Given the description of an element on the screen output the (x, y) to click on. 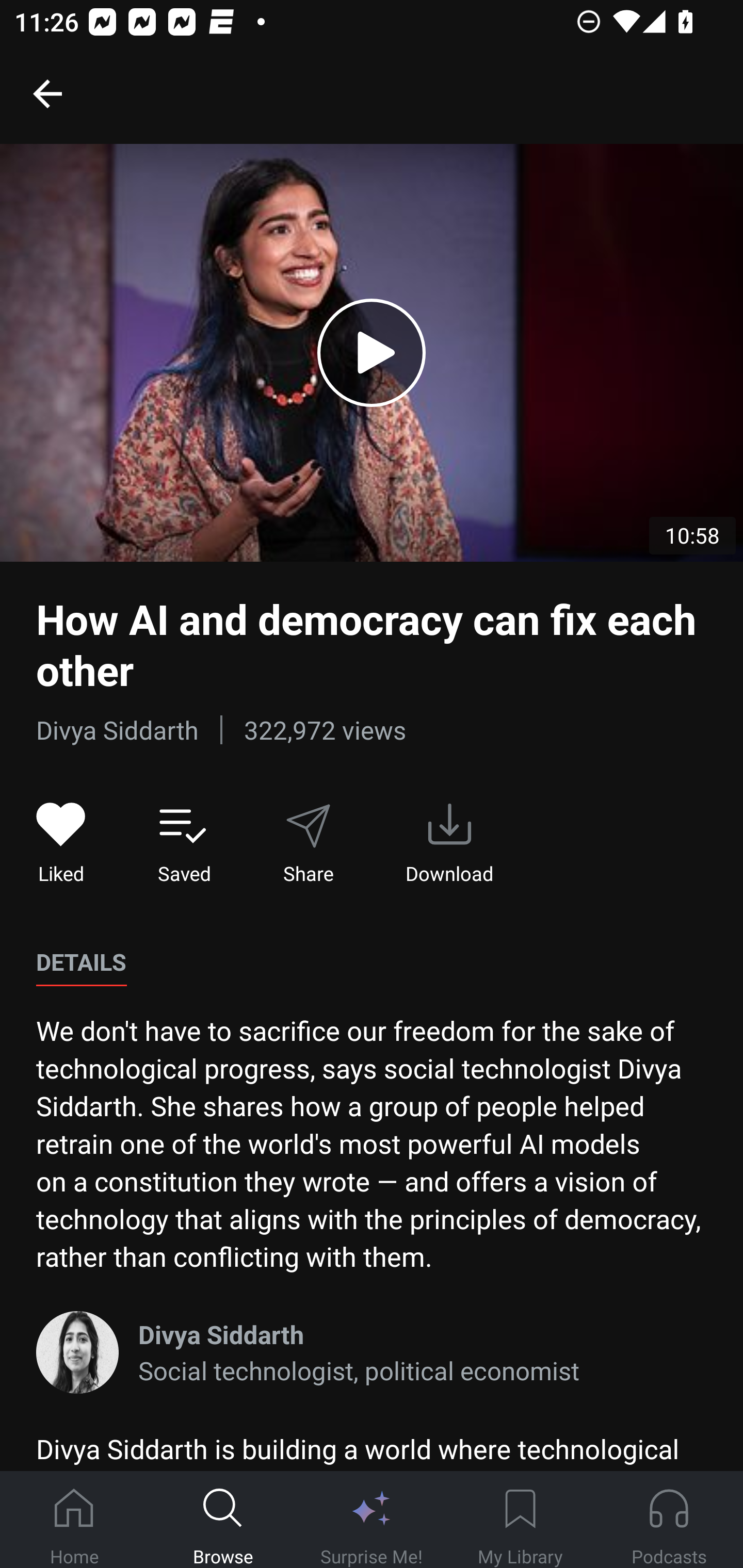
Search, back (47, 92)
Liked (60, 843)
Saved (183, 843)
Share (308, 843)
Download (449, 843)
DETAILS (80, 962)
Home (74, 1520)
Browse (222, 1520)
Surprise Me! (371, 1520)
My Library (519, 1520)
Podcasts (668, 1520)
